Given the description of an element on the screen output the (x, y) to click on. 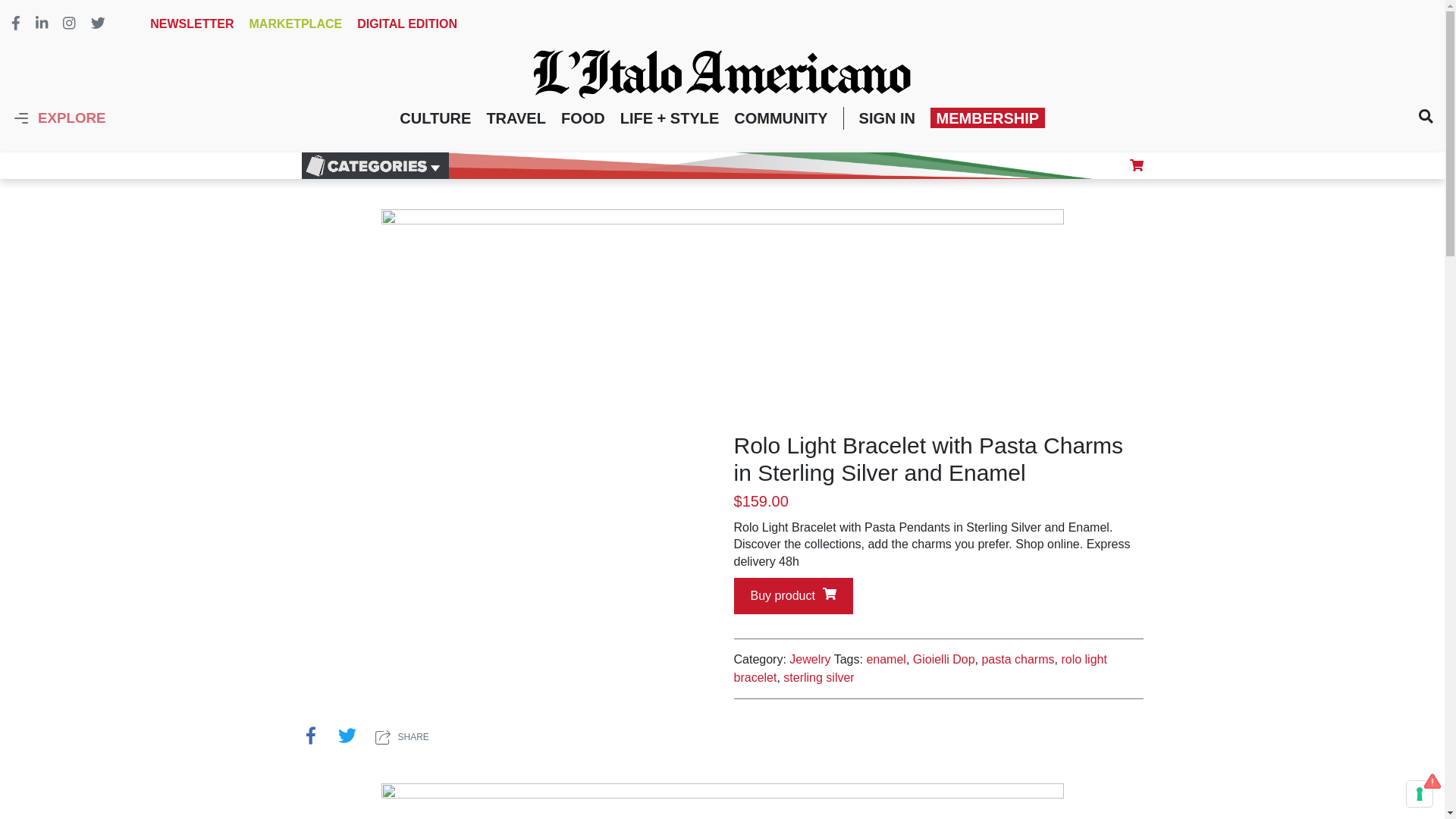
TRAVEL (516, 117)
MEMBERSHIP (987, 117)
Facebook (310, 737)
EXPLORE (58, 118)
COMMUNITY (780, 117)
FOOD (582, 117)
logo (721, 73)
MARKETPLACE (295, 23)
Twitter (346, 737)
CULTURE (434, 117)
SIGN IN (887, 117)
NEWSLETTER (190, 23)
DIGITAL EDITION (406, 23)
